Given the description of an element on the screen output the (x, y) to click on. 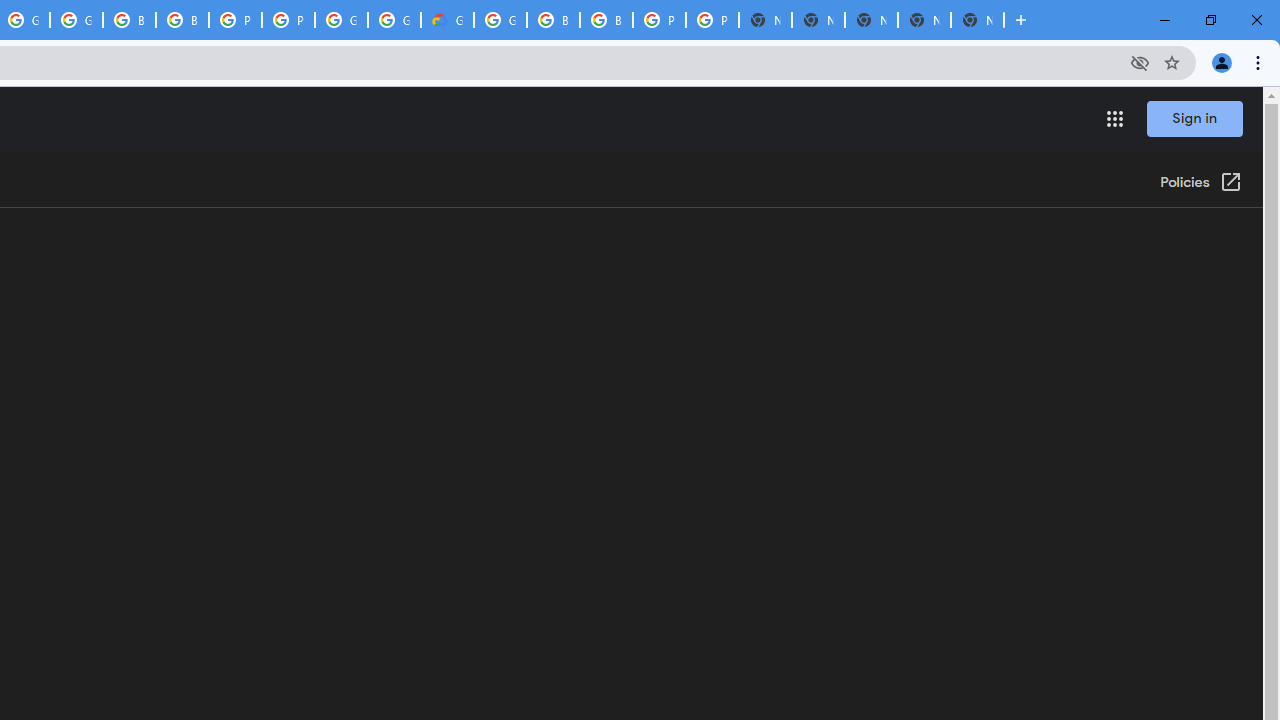
Google Cloud Platform (341, 20)
Policies (Open in a new window) (1200, 183)
Google Cloud Platform (394, 20)
Google Cloud Platform (500, 20)
